Given the description of an element on the screen output the (x, y) to click on. 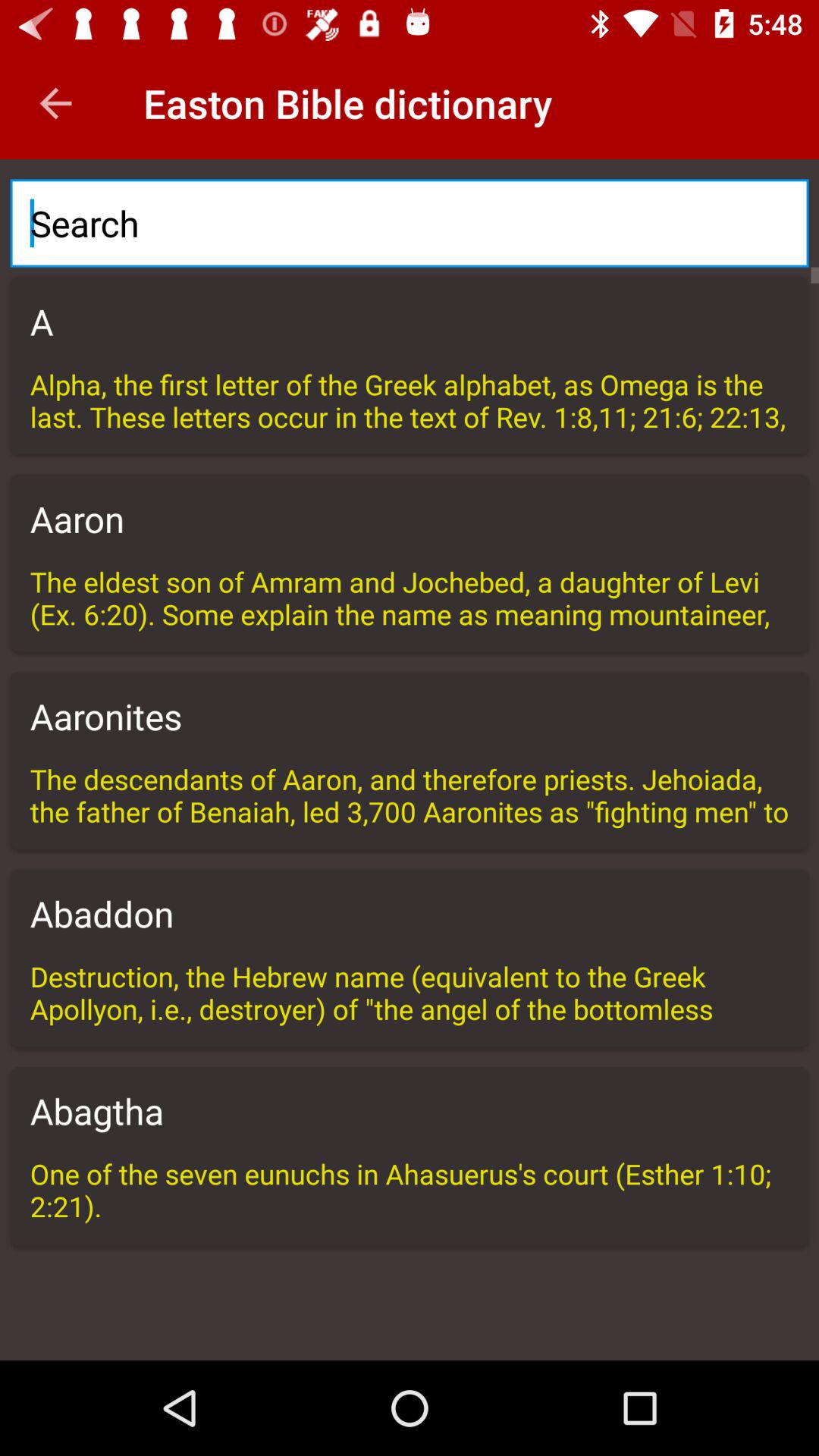
open icon above destruction the hebrew item (409, 913)
